Given the description of an element on the screen output the (x, y) to click on. 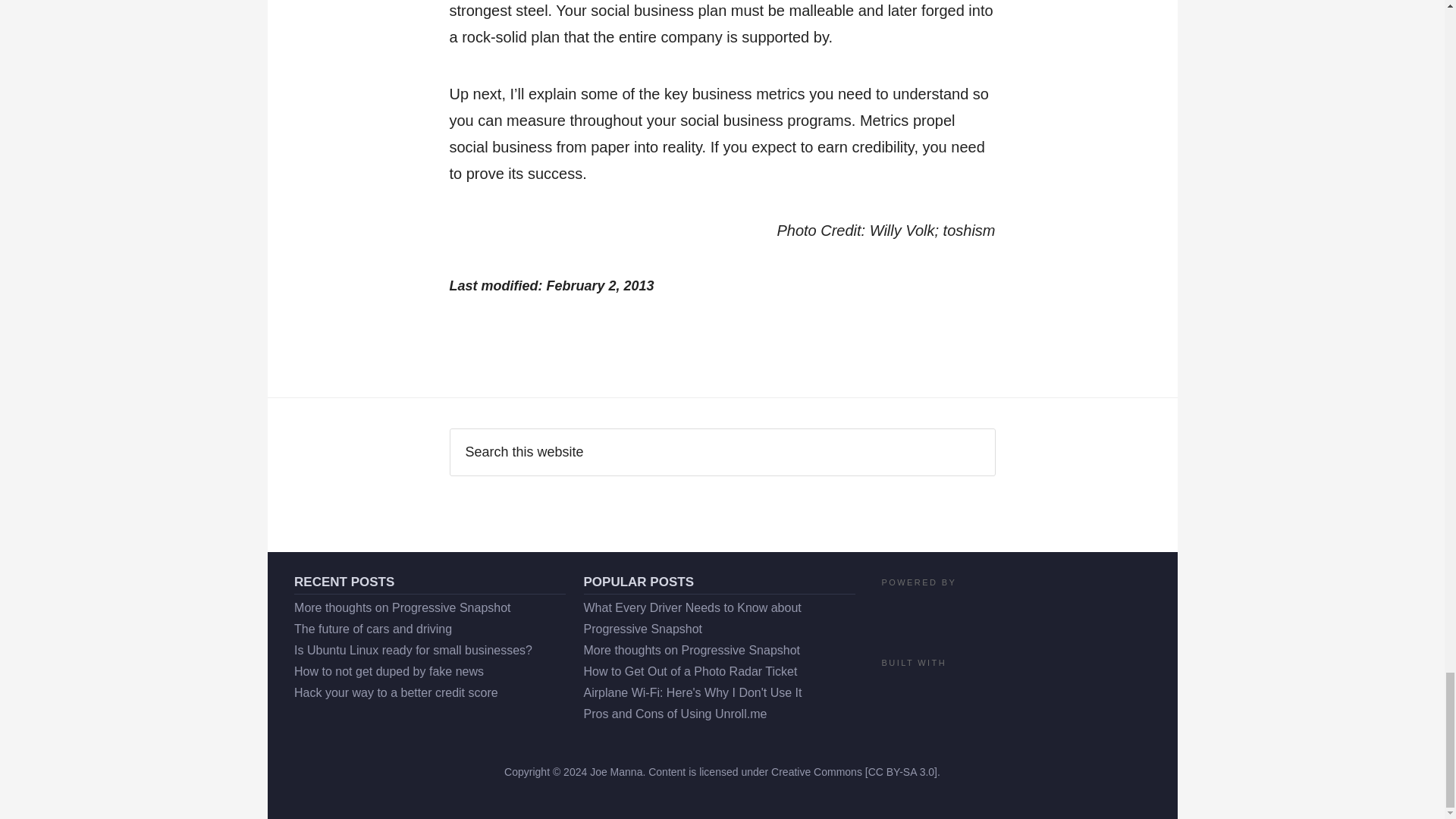
How to Get Out of a Photo Radar Ticket (690, 671)
More thoughts on Progressive Snapshot (691, 649)
Is Ubuntu Linux ready for small businesses? (413, 649)
Pros and Cons of Using Unroll.me (675, 713)
Hack your way to a better credit score (395, 692)
More thoughts on Progressive Snapshot (402, 607)
The future of cars and driving (372, 628)
Airplane Wi-Fi: Here's Why I Don't Use It (692, 692)
How to not get duped by fake news (388, 671)
What Every Driver Needs to Know about Progressive Snapshot (692, 618)
